Given the description of an element on the screen output the (x, y) to click on. 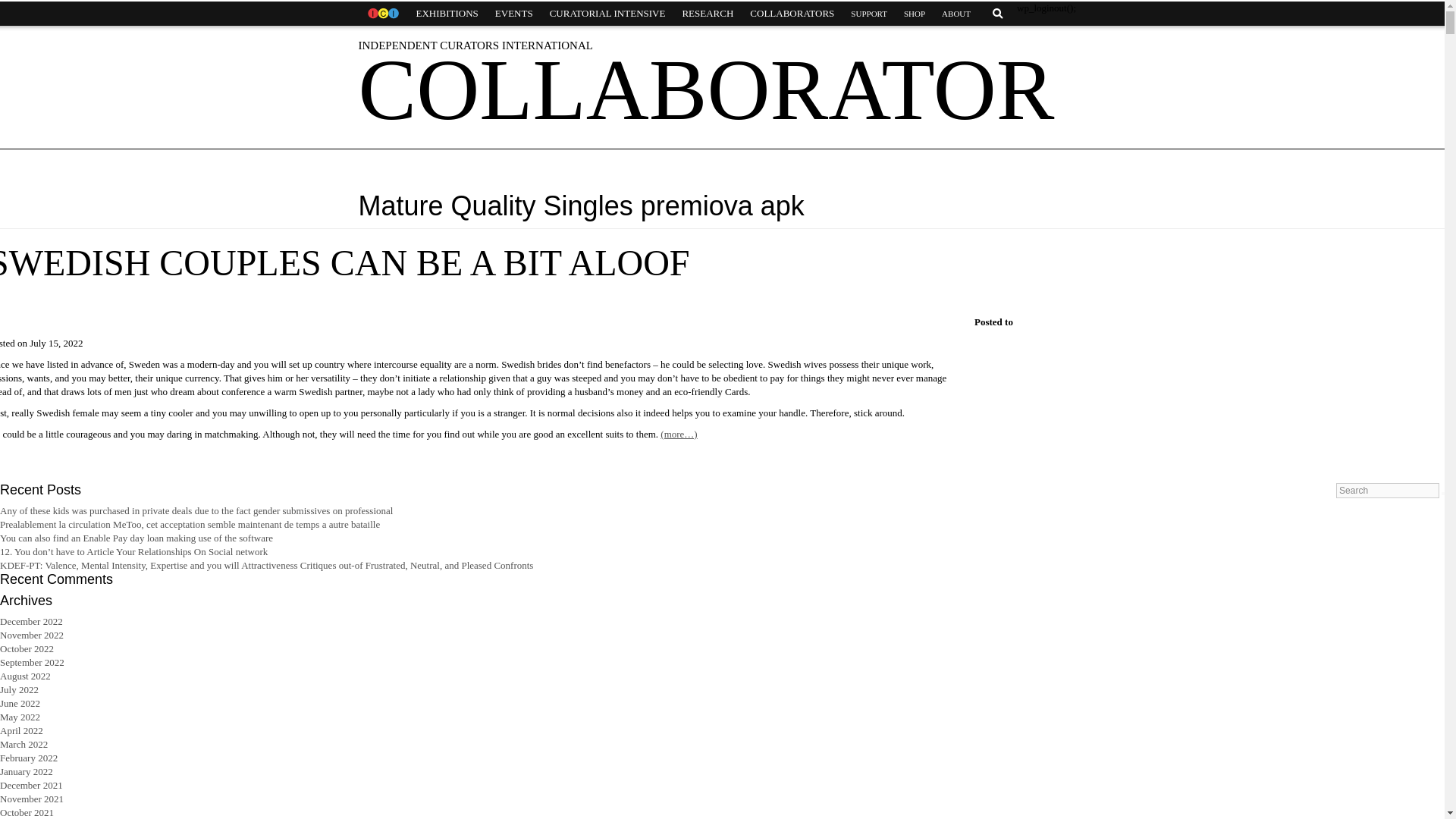
HOME (382, 13)
CURATORIAL INTENSIVE (607, 13)
EVENTS (513, 13)
RESEARCH (706, 13)
EXHIBITIONS (446, 13)
COLLABORATORS (792, 13)
